Given the description of an element on the screen output the (x, y) to click on. 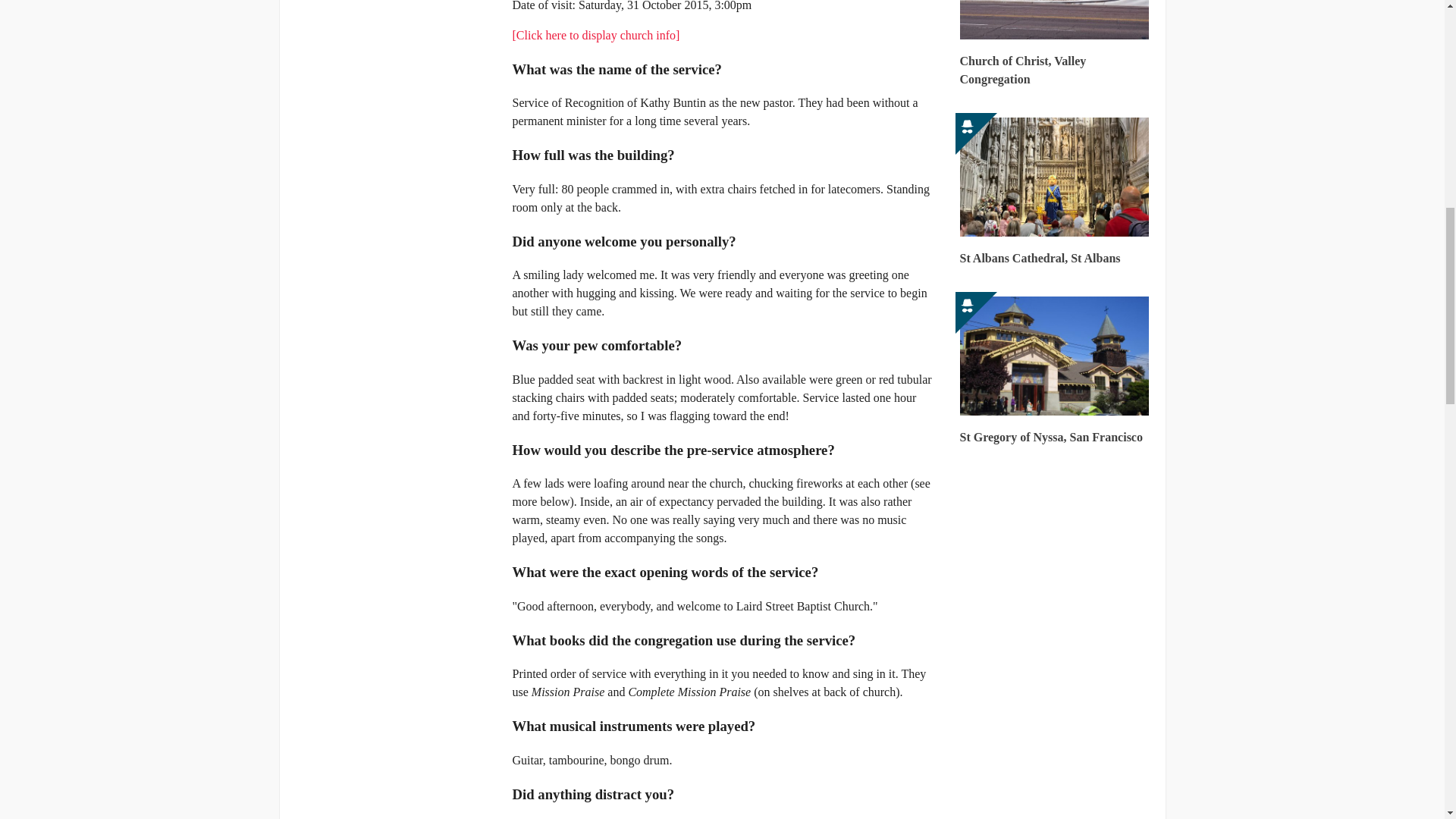
St Gregory of Nyssa, San Francisco (1054, 371)
St Albans Cathedral, St Albans (1054, 192)
Church of Christ, Valley Congregation (1054, 46)
